Given the description of an element on the screen output the (x, y) to click on. 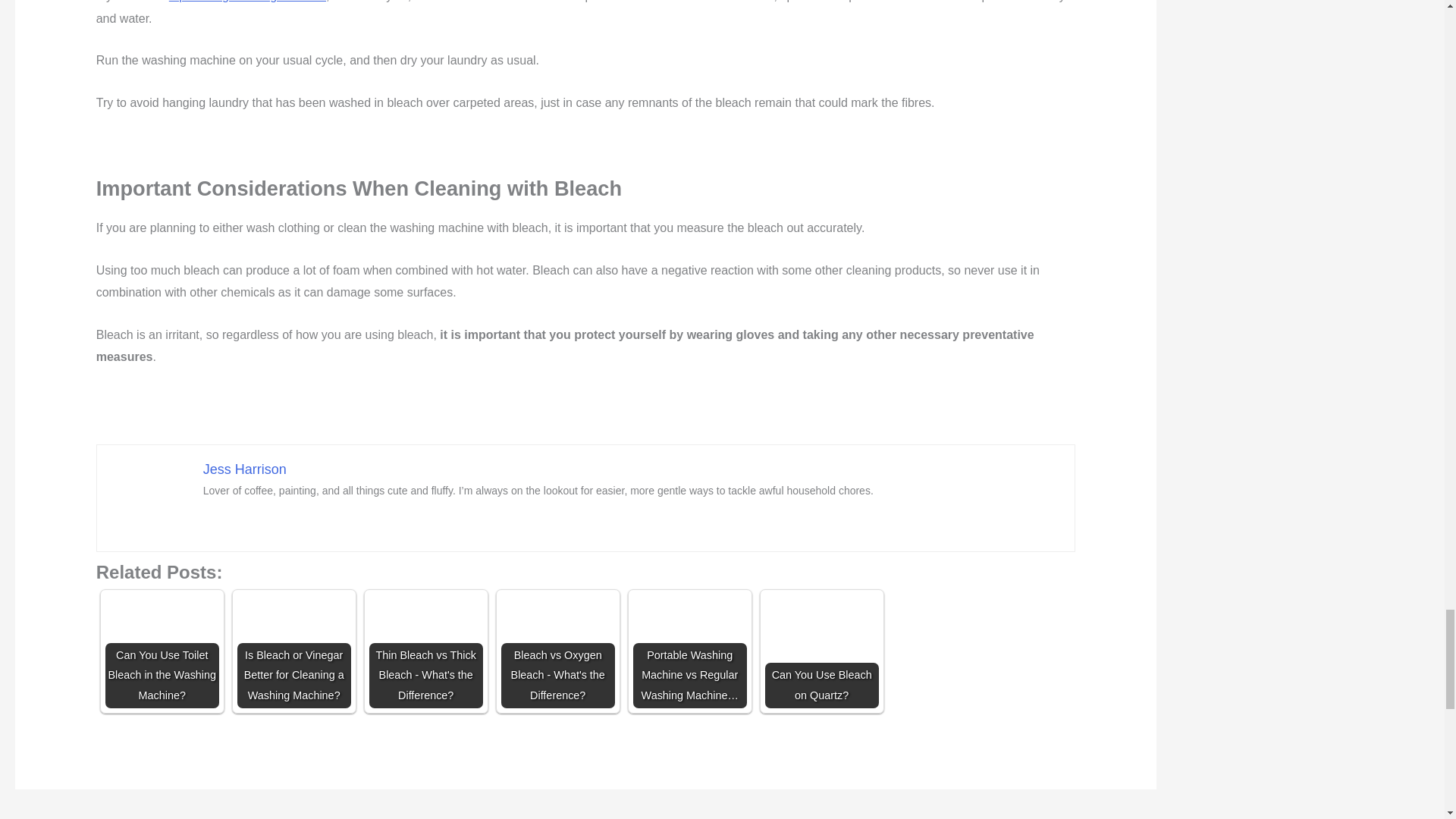
Can You Put Converse Trainers in the Washing Machine? (1120, 816)
Bleach vs Oxygen Bleach - What's the Difference? (557, 651)
Is Bleach or Vinegar Better for Cleaning a Washing Machine? (293, 651)
Thin Bleach vs Thick Bleach - What's the Difference? (426, 651)
Jess Harrison (244, 468)
top-loading washing machine (247, 1)
Best Alternatives to Calgon in the UK (61, 816)
Can You Use Bleach on Quartz? (822, 651)
Can You Use Toilet Bleach in the Washing Machine? (161, 651)
